Given the description of an element on the screen output the (x, y) to click on. 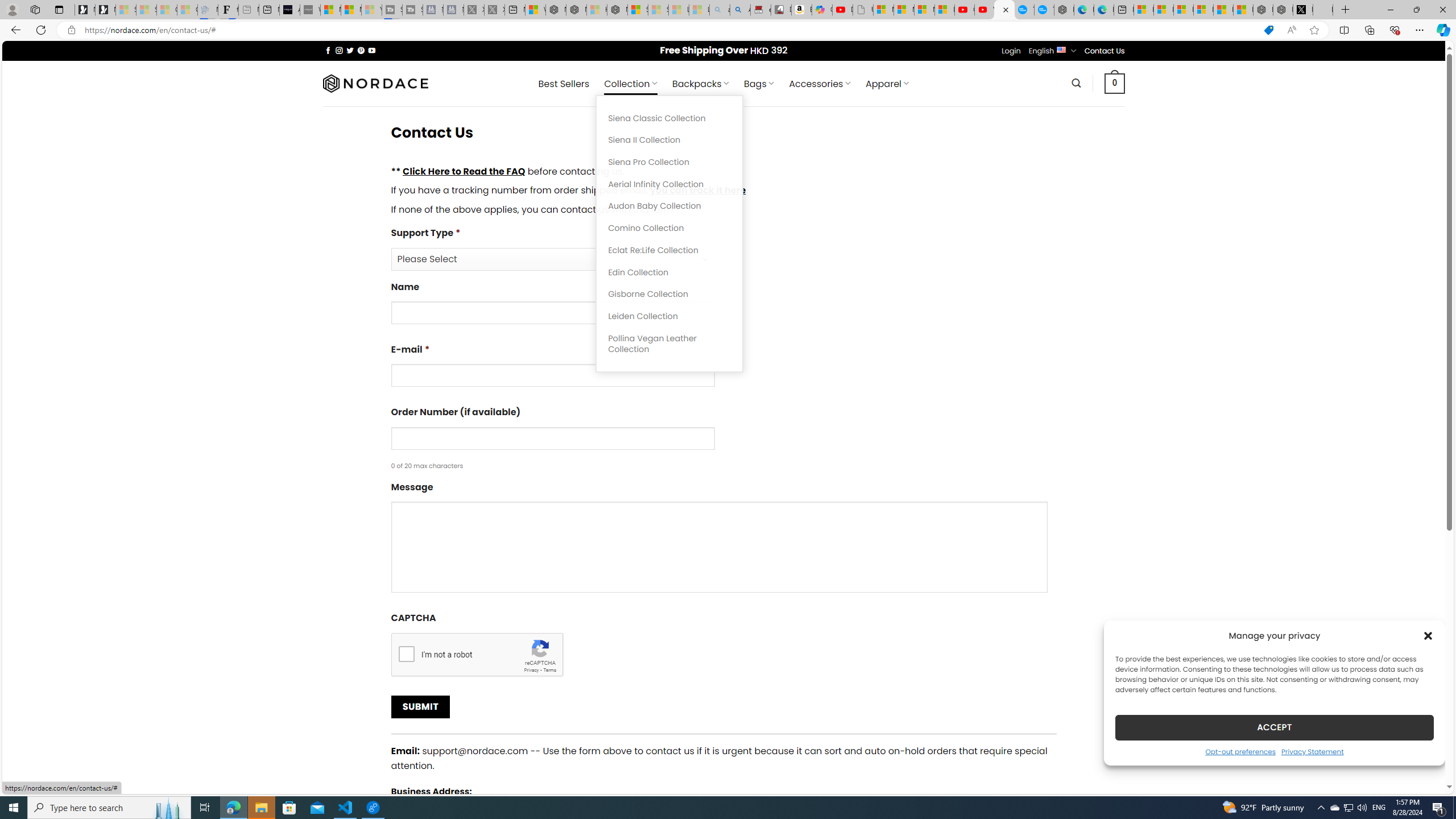
Siena II Collection (669, 140)
Edin Collection (669, 272)
  Best Sellers (563, 83)
I'm not a robot (405, 653)
Newsletter Sign Up (105, 9)
Siena Classic Collection (669, 118)
Login (1010, 50)
Submit (419, 707)
